Given the description of an element on the screen output the (x, y) to click on. 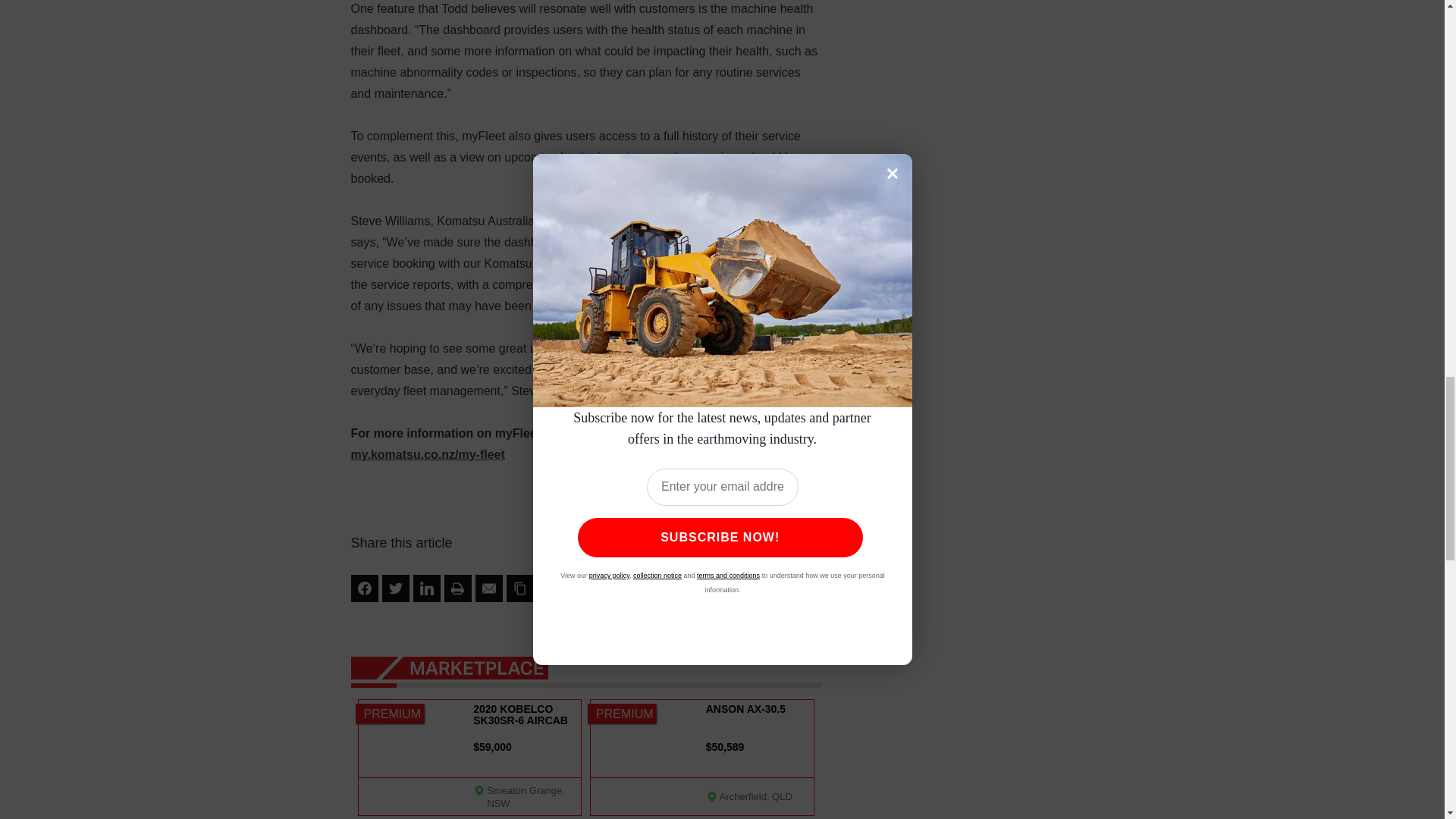
Share on Email (488, 587)
Share on LinkedIn (425, 587)
Share on Copy Link (520, 587)
Share on Twitter (395, 587)
Share on Facebook (363, 587)
Share on Print (457, 587)
